Given the description of an element on the screen output the (x, y) to click on. 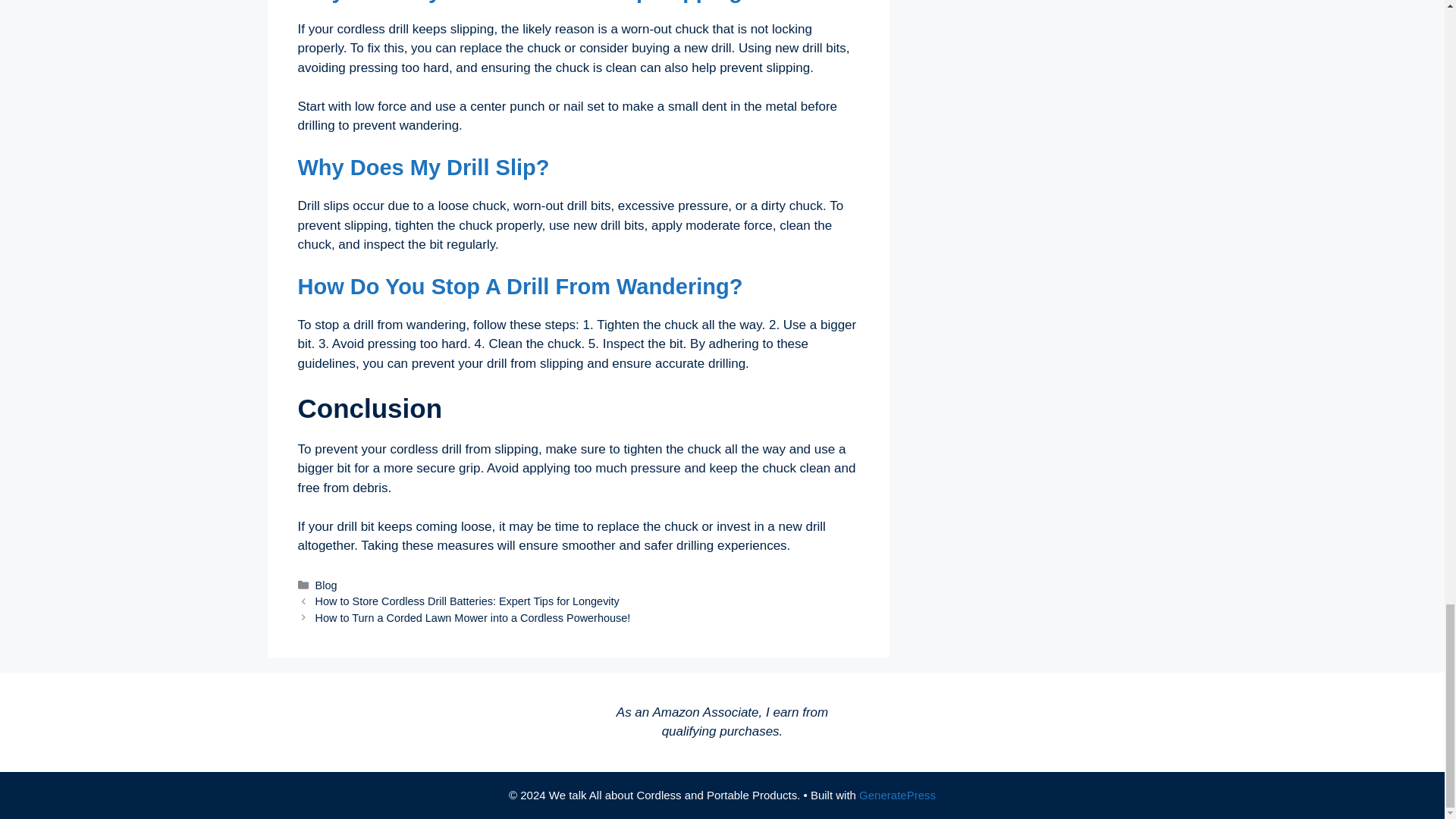
How to Turn a Corded Lawn Mower into a Cordless Powerhouse! (472, 617)
Blog (326, 585)
GeneratePress (897, 794)
